Given the description of an element on the screen output the (x, y) to click on. 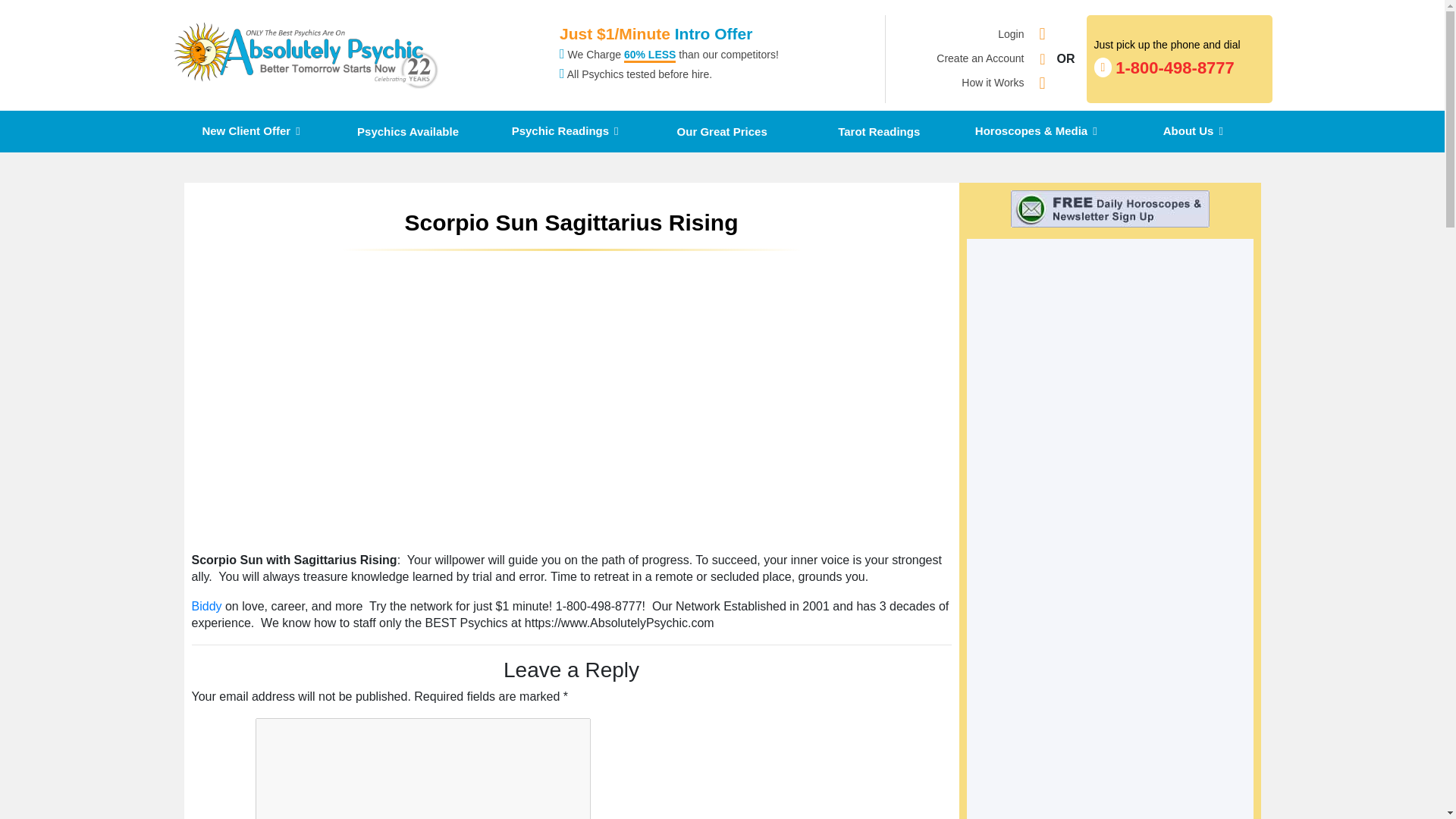
Login (1010, 33)
Psychic Readings (565, 130)
How it Works (1180, 58)
Create an Account (991, 83)
New Client Offer (979, 58)
Psychics Available (250, 130)
